Given the description of an element on the screen output the (x, y) to click on. 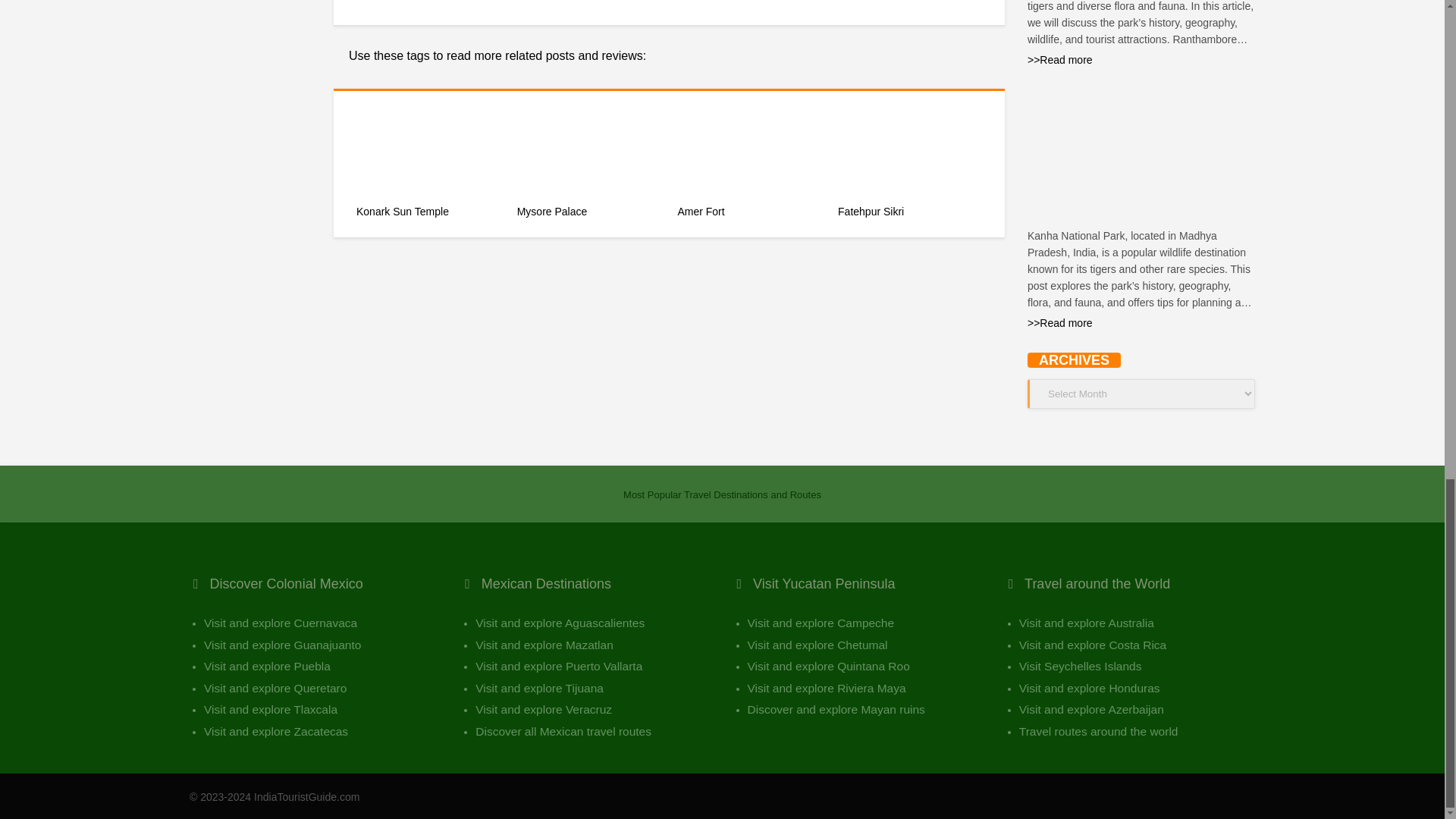
Amer Fort (749, 218)
Fatehpur Sikri (909, 218)
Konark Sun Temple (428, 218)
Mysore Palace (588, 218)
